Given the description of an element on the screen output the (x, y) to click on. 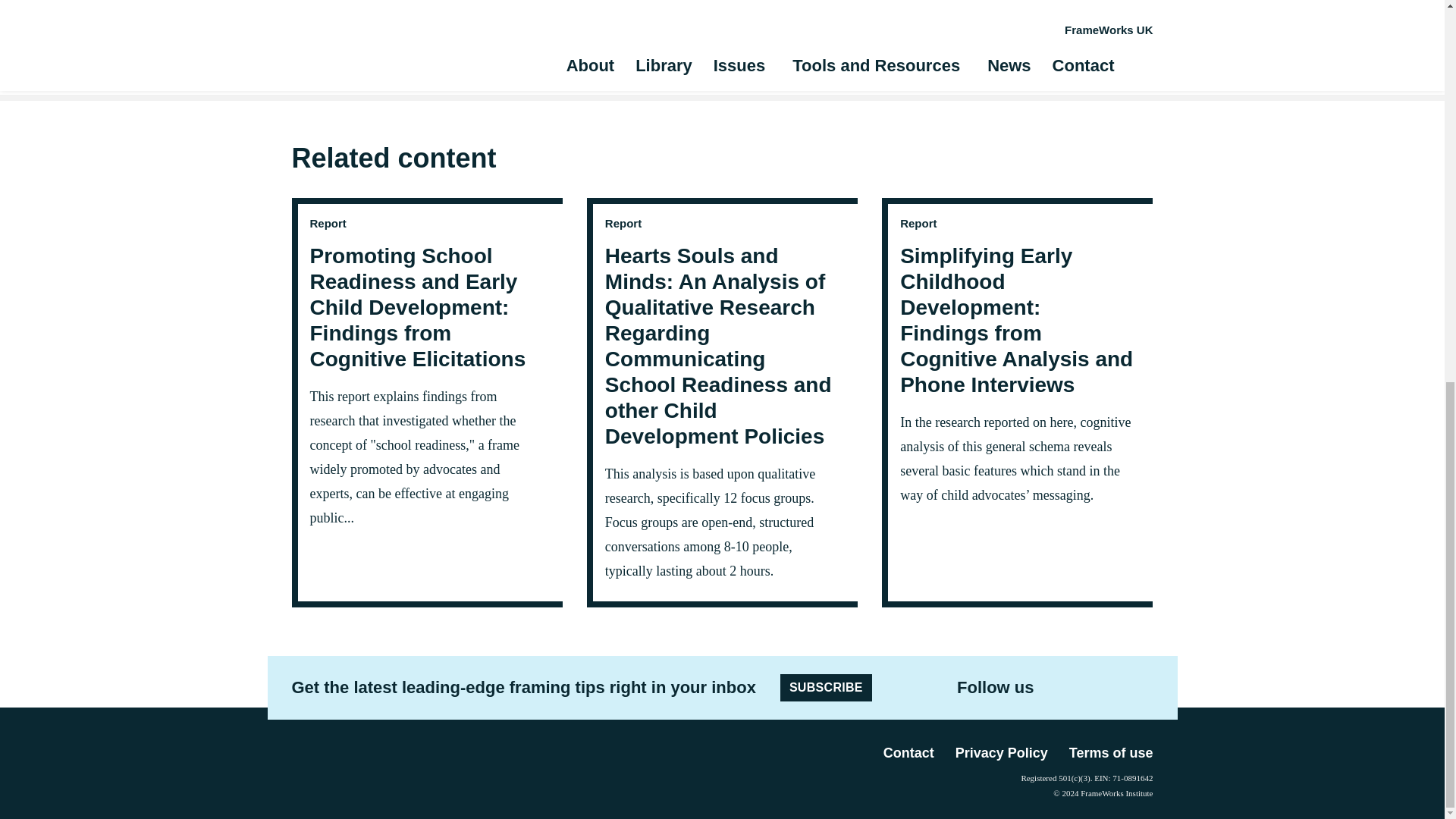
Share on Facebook (962, 44)
Share on Twitter (989, 44)
Twitter (1069, 687)
YouTube (1141, 687)
Share on LinkedIn (1018, 44)
Instagram (1093, 687)
Share on email (1046, 44)
Go to homepage (327, 771)
LinkedIn (1116, 687)
